Given the description of an element on the screen output the (x, y) to click on. 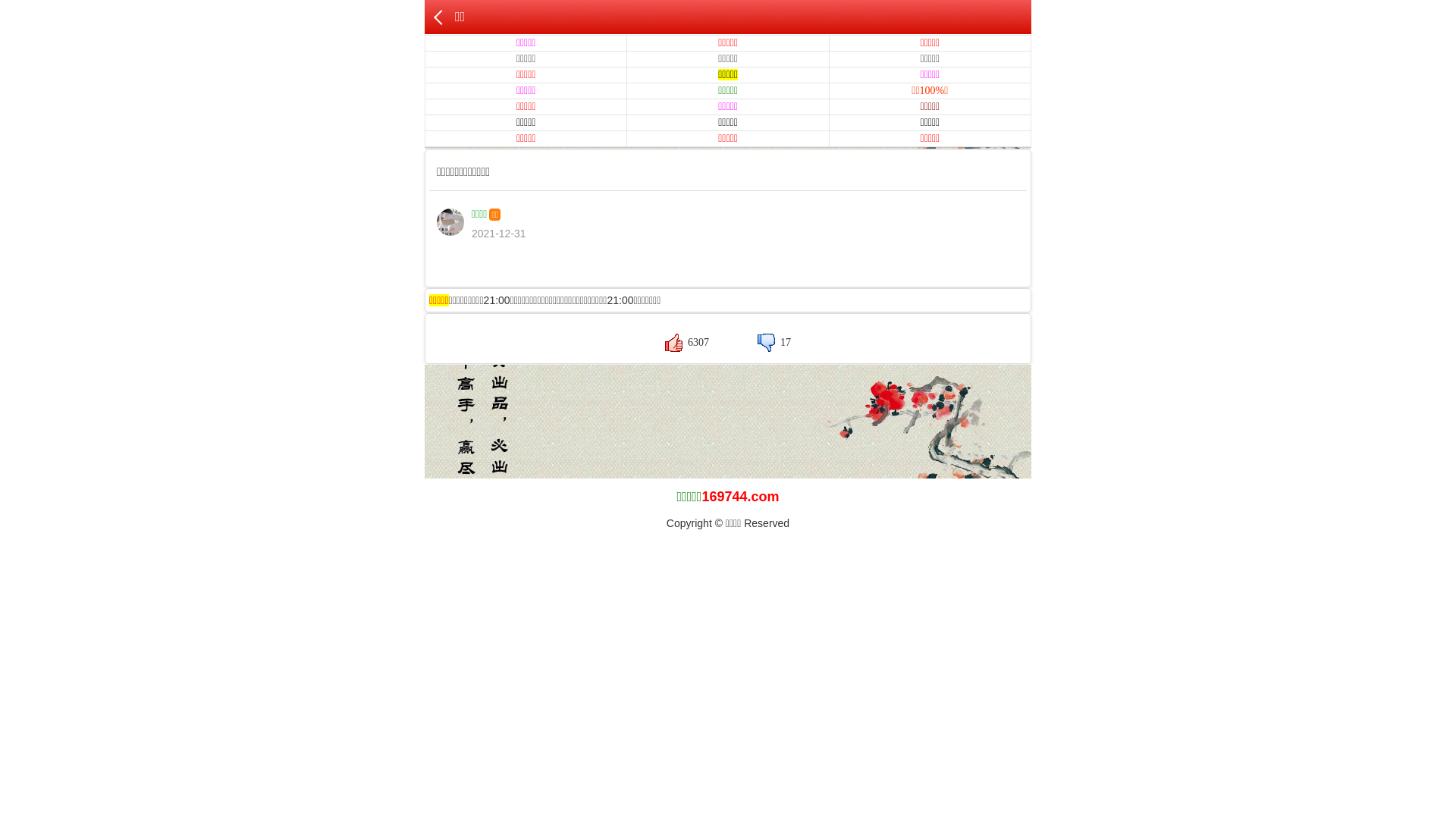
17 Element type: text (773, 341)
6307 Element type: text (687, 341)
